Given the description of an element on the screen output the (x, y) to click on. 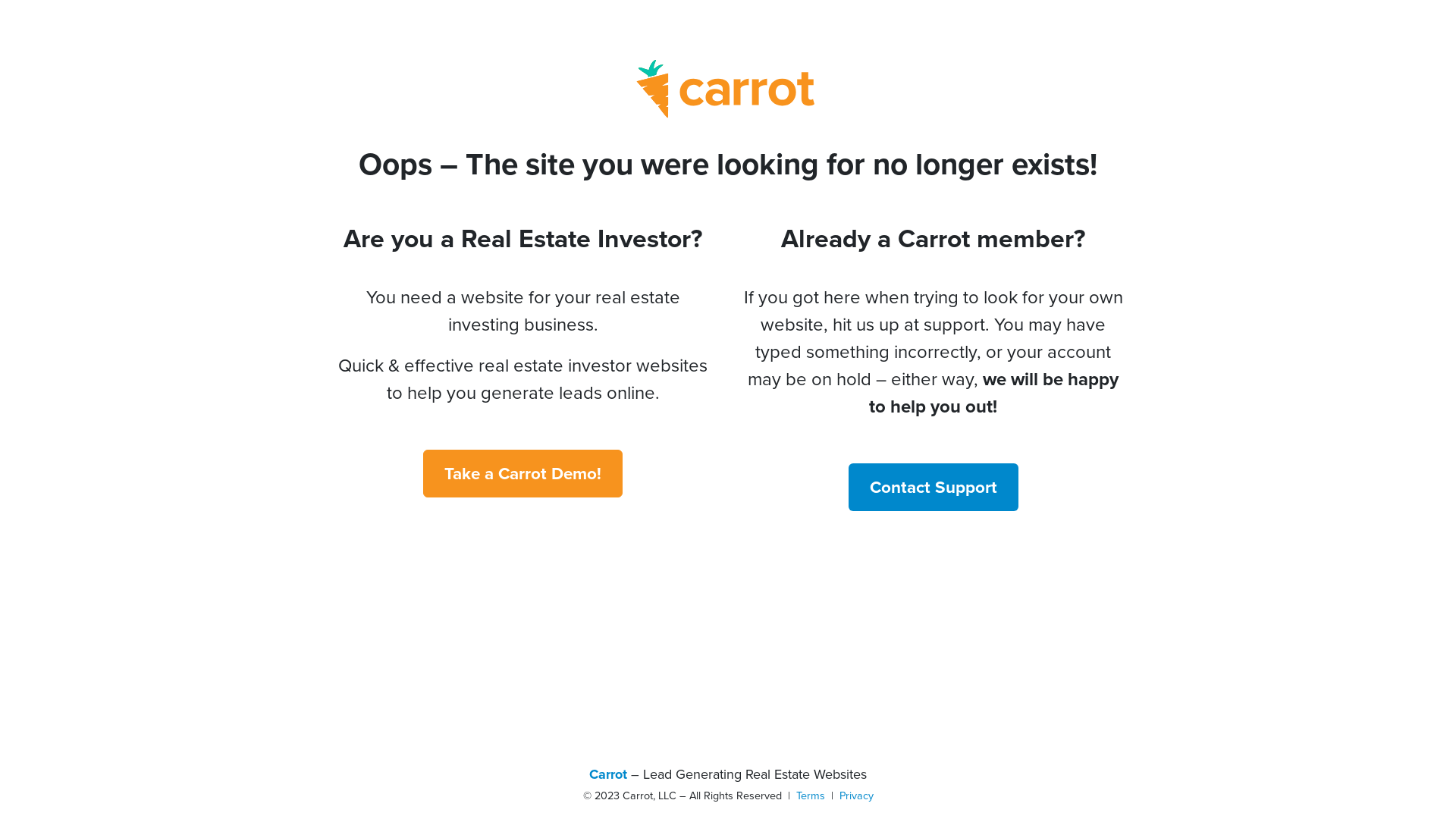
Contact Support Element type: text (932, 487)
Take a Carrot Demo! Element type: text (522, 473)
Carrot Element type: text (608, 774)
Privacy Element type: text (855, 795)
Terms Element type: text (810, 795)
